Given the description of an element on the screen output the (x, y) to click on. 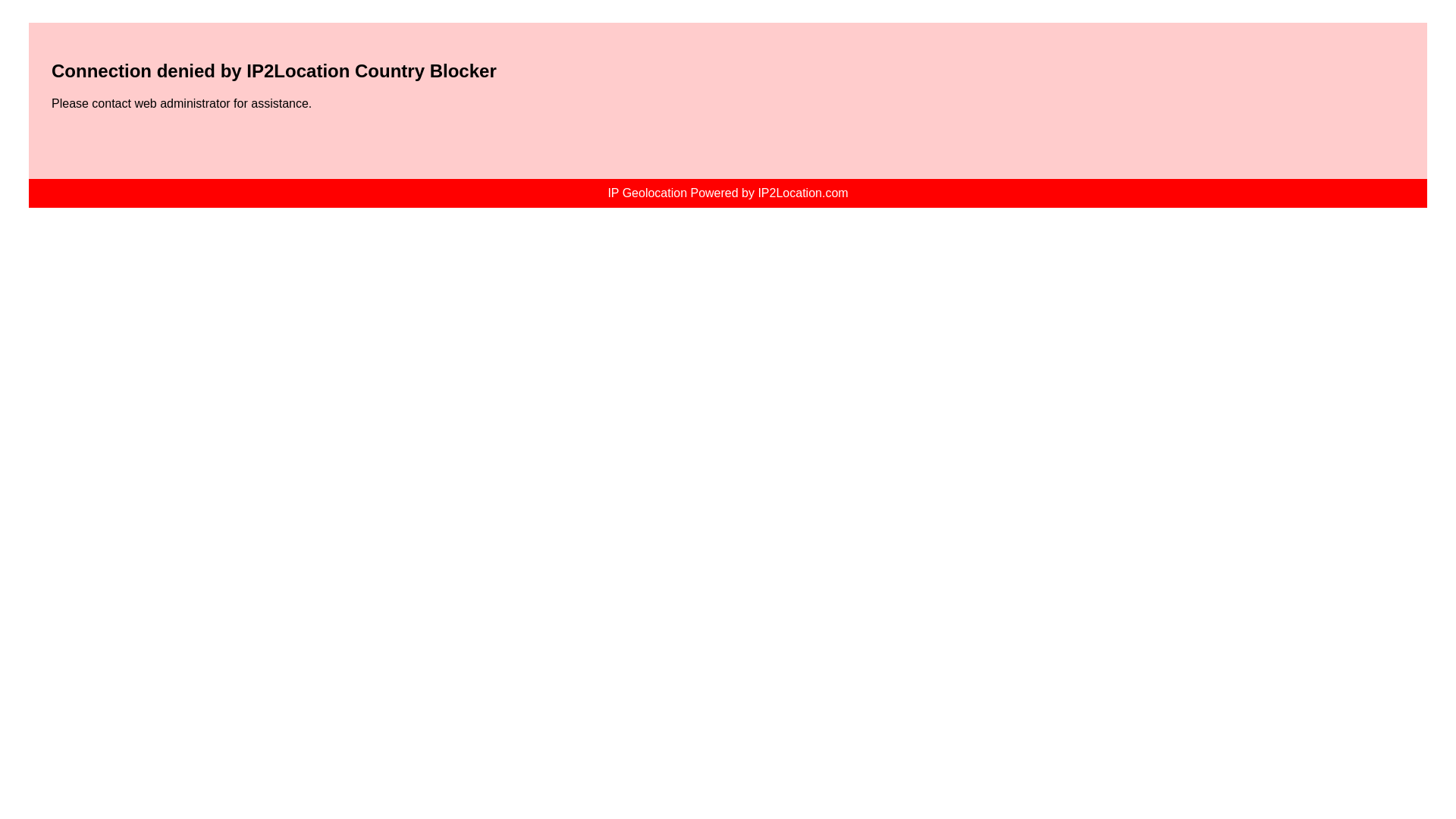
IP Geolocation Powered by IP2Location.com (727, 192)
